Given the description of an element on the screen output the (x, y) to click on. 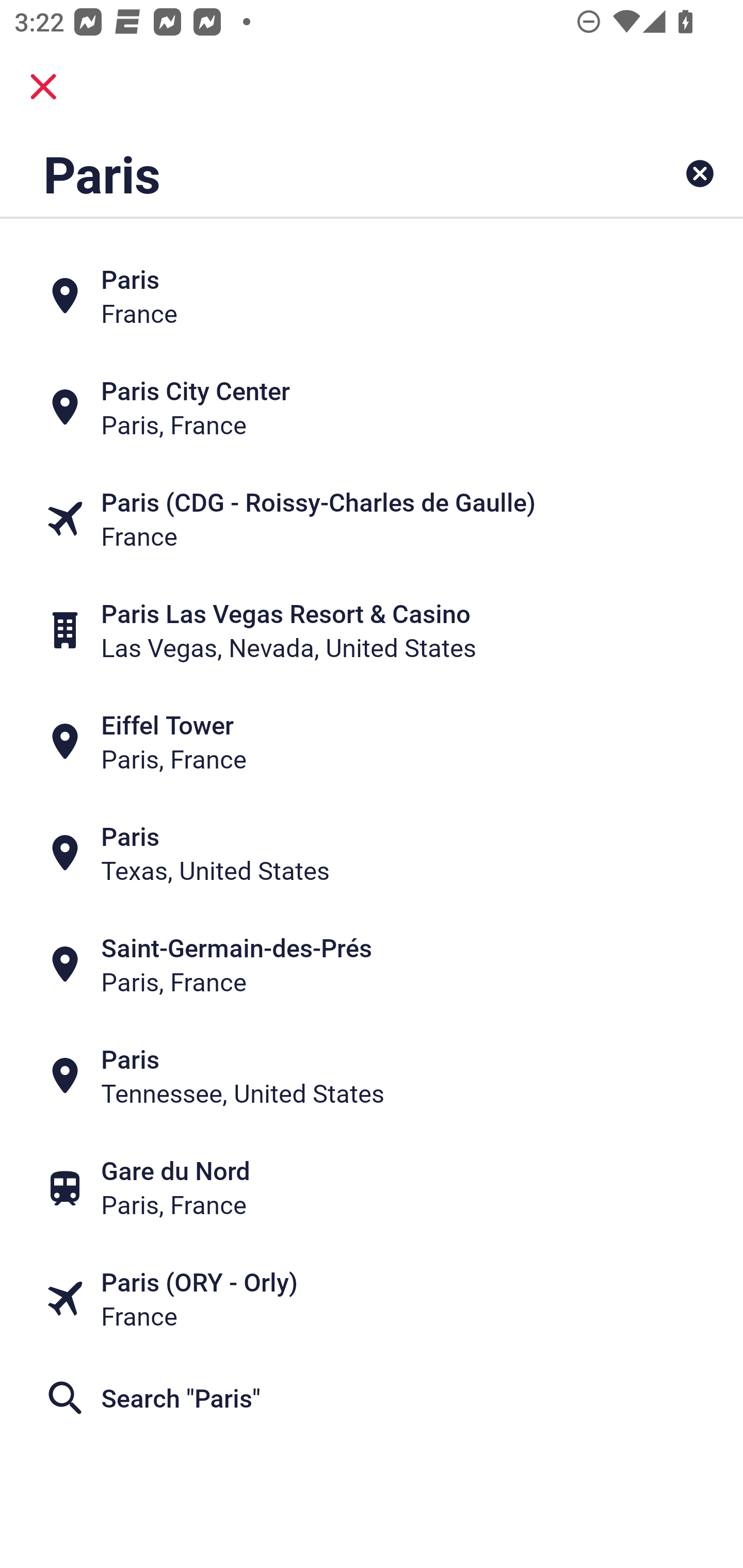
close. (43, 86)
Clear (699, 173)
Paris (306, 173)
Paris France (371, 295)
Paris City Center Paris, France (371, 406)
Paris (CDG - Roissy-Charles de Gaulle) France (371, 517)
Eiffel Tower Paris, France (371, 742)
Paris Texas, United States (371, 853)
Saint-Germain-des-Prés Paris, France (371, 964)
Paris Tennessee, United States (371, 1076)
Gare du Nord Paris, France (371, 1187)
Paris (ORY - Orly) France (371, 1298)
Search "Paris" (371, 1397)
